Given the description of an element on the screen output the (x, y) to click on. 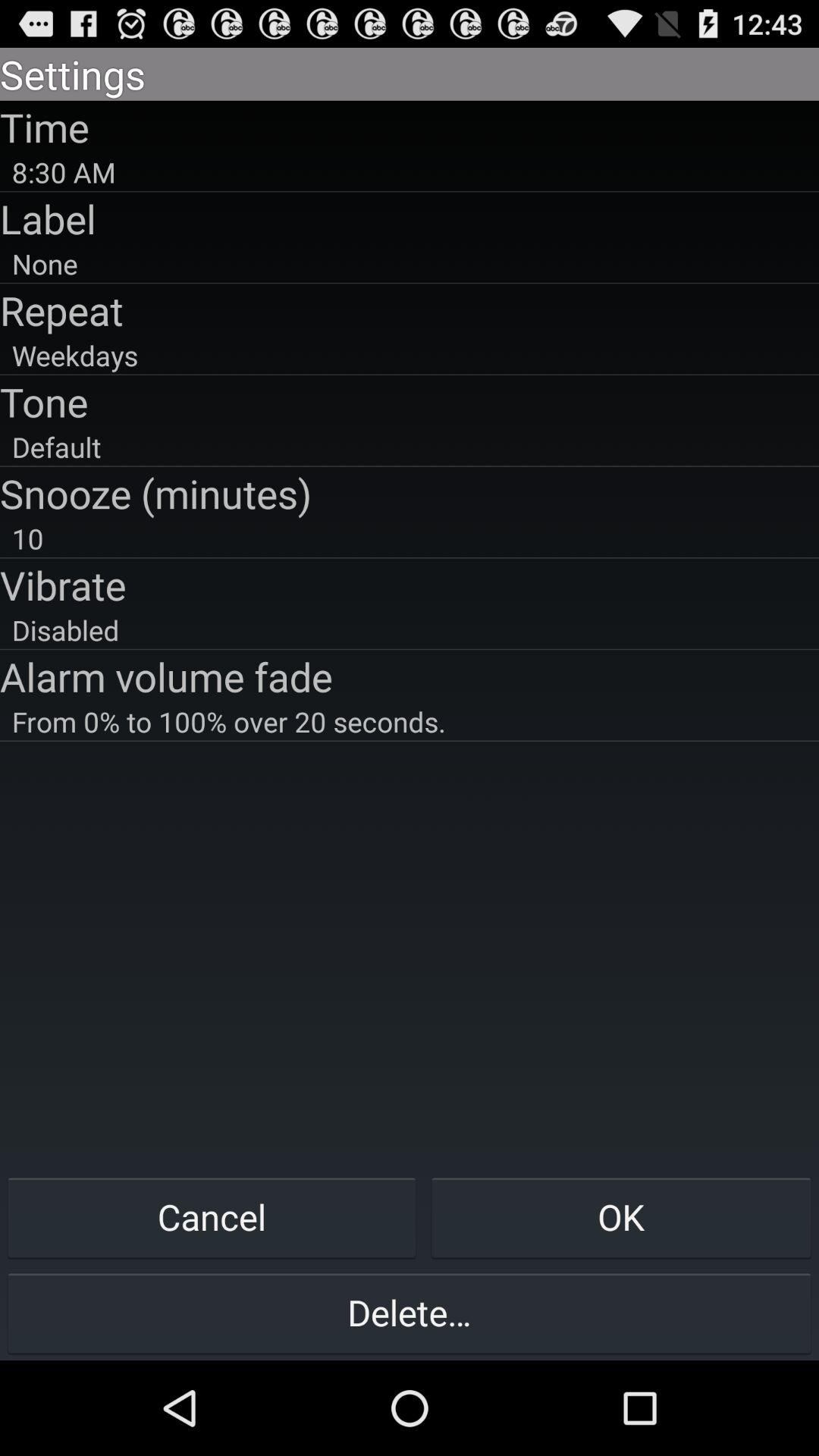
tap icon above the snooze (minutes) (409, 446)
